Given the description of an element on the screen output the (x, y) to click on. 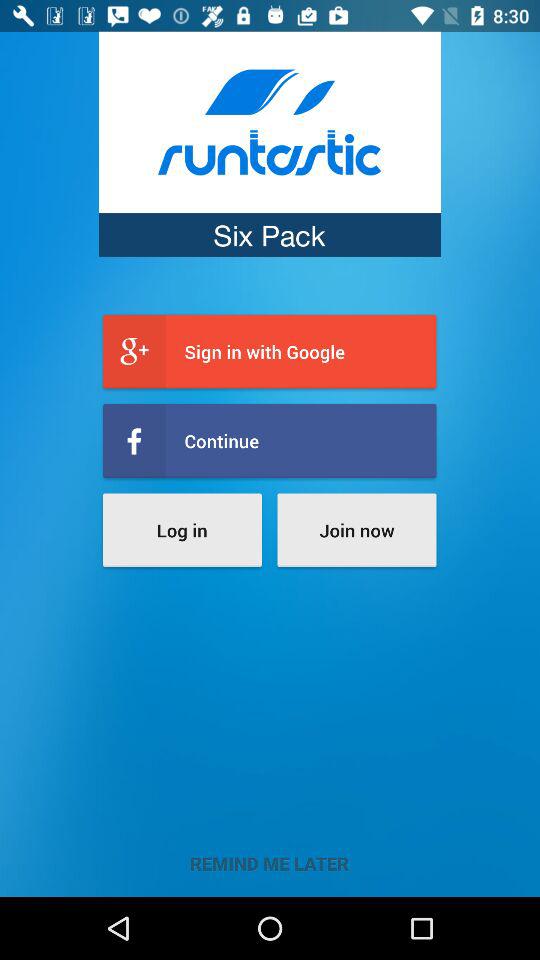
tap the icon below continue (356, 529)
